Given the description of an element on the screen output the (x, y) to click on. 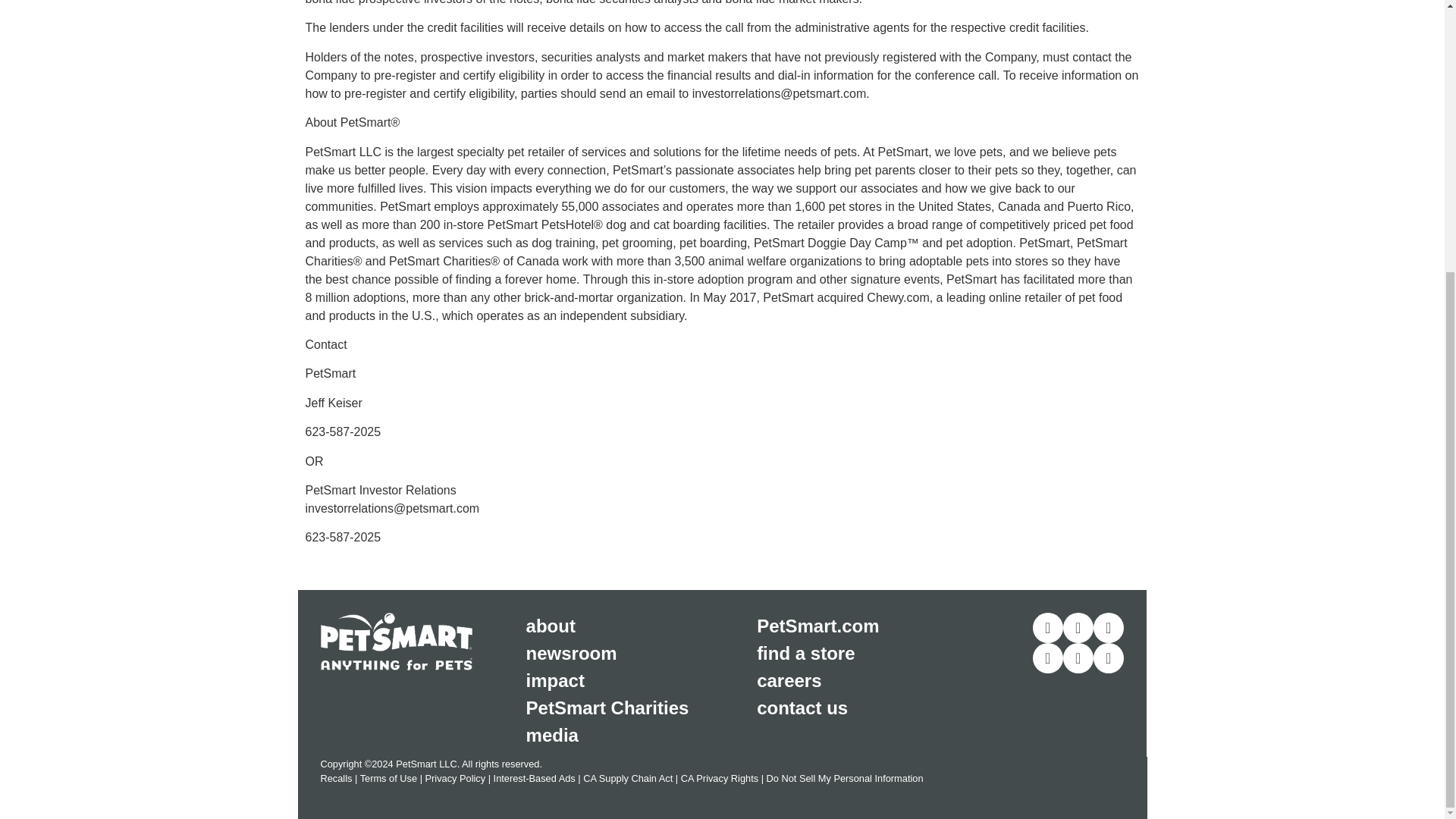
about (641, 625)
